Given the description of an element on the screen output the (x, y) to click on. 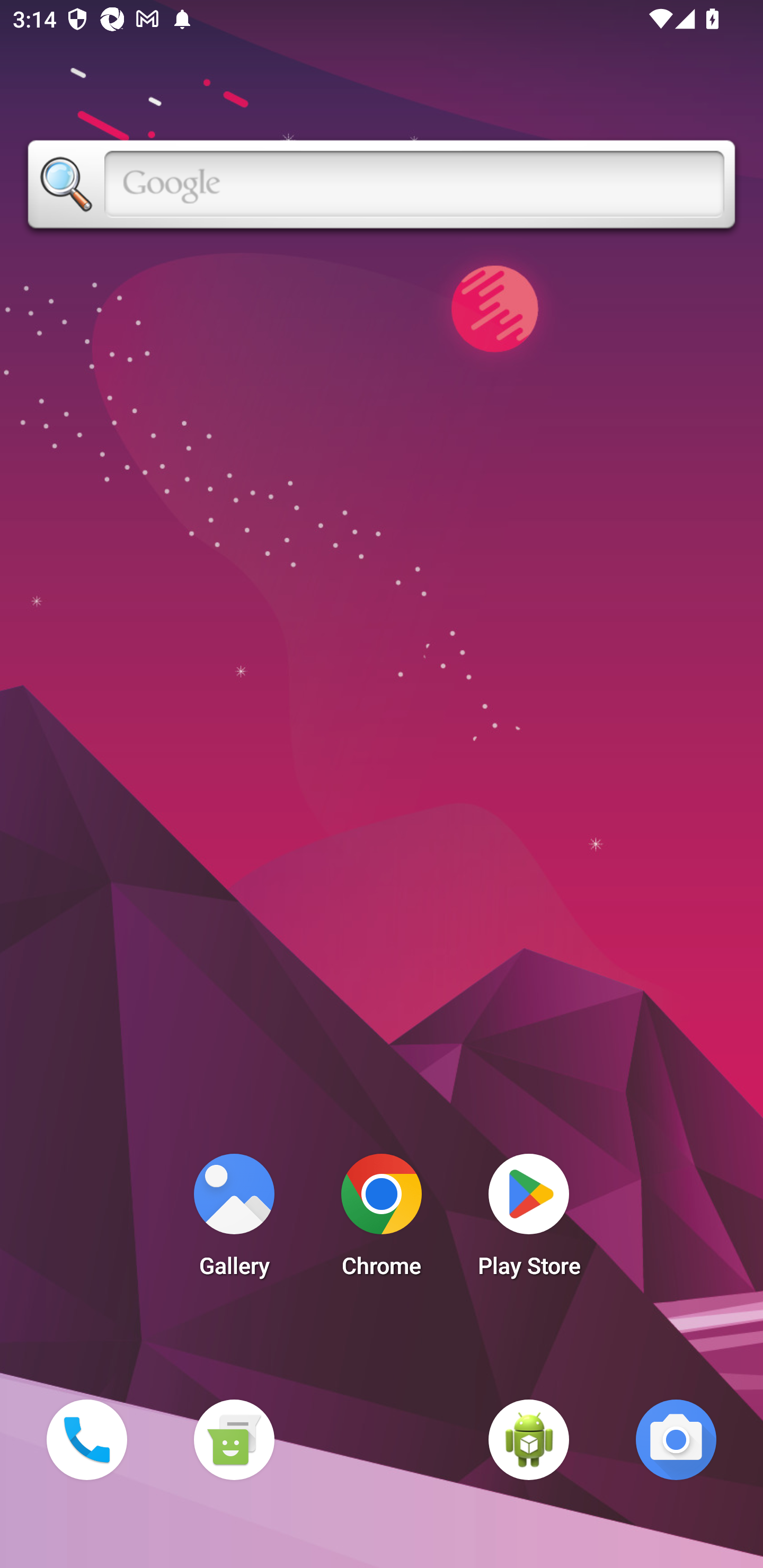
Gallery (233, 1220)
Chrome (381, 1220)
Play Store (528, 1220)
Phone (86, 1439)
Messaging (233, 1439)
WebView Browser Tester (528, 1439)
Camera (676, 1439)
